Given the description of an element on the screen output the (x, y) to click on. 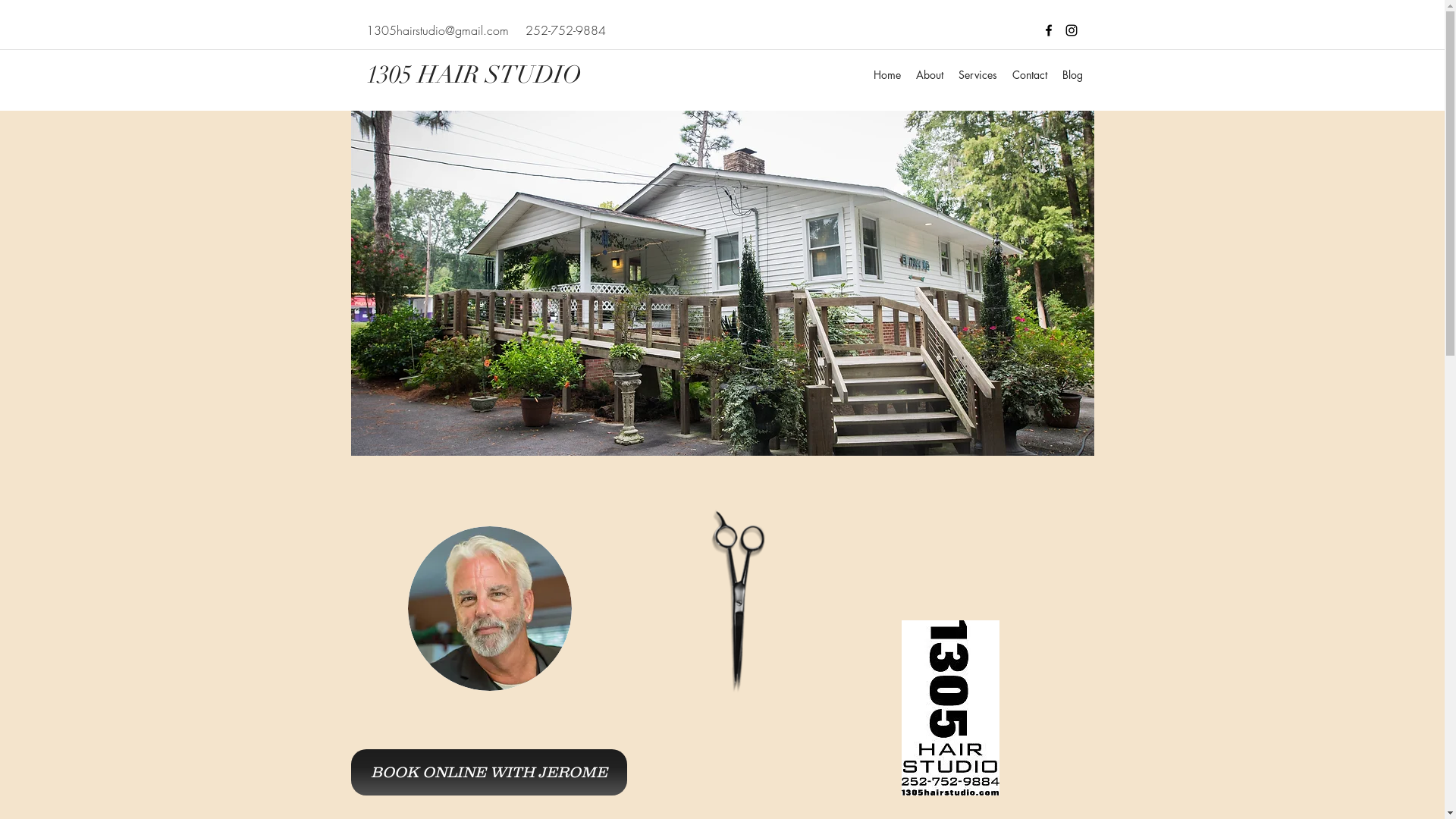
Blog Element type: text (1071, 74)
Home Element type: text (887, 74)
1305hairstudio@gmail.com Element type: text (436, 29)
Contact Element type: text (1029, 74)
BOOK ONLINE WITH JEROME Element type: text (488, 772)
Services Element type: text (977, 74)
About Element type: text (929, 74)
